Given the description of an element on the screen output the (x, y) to click on. 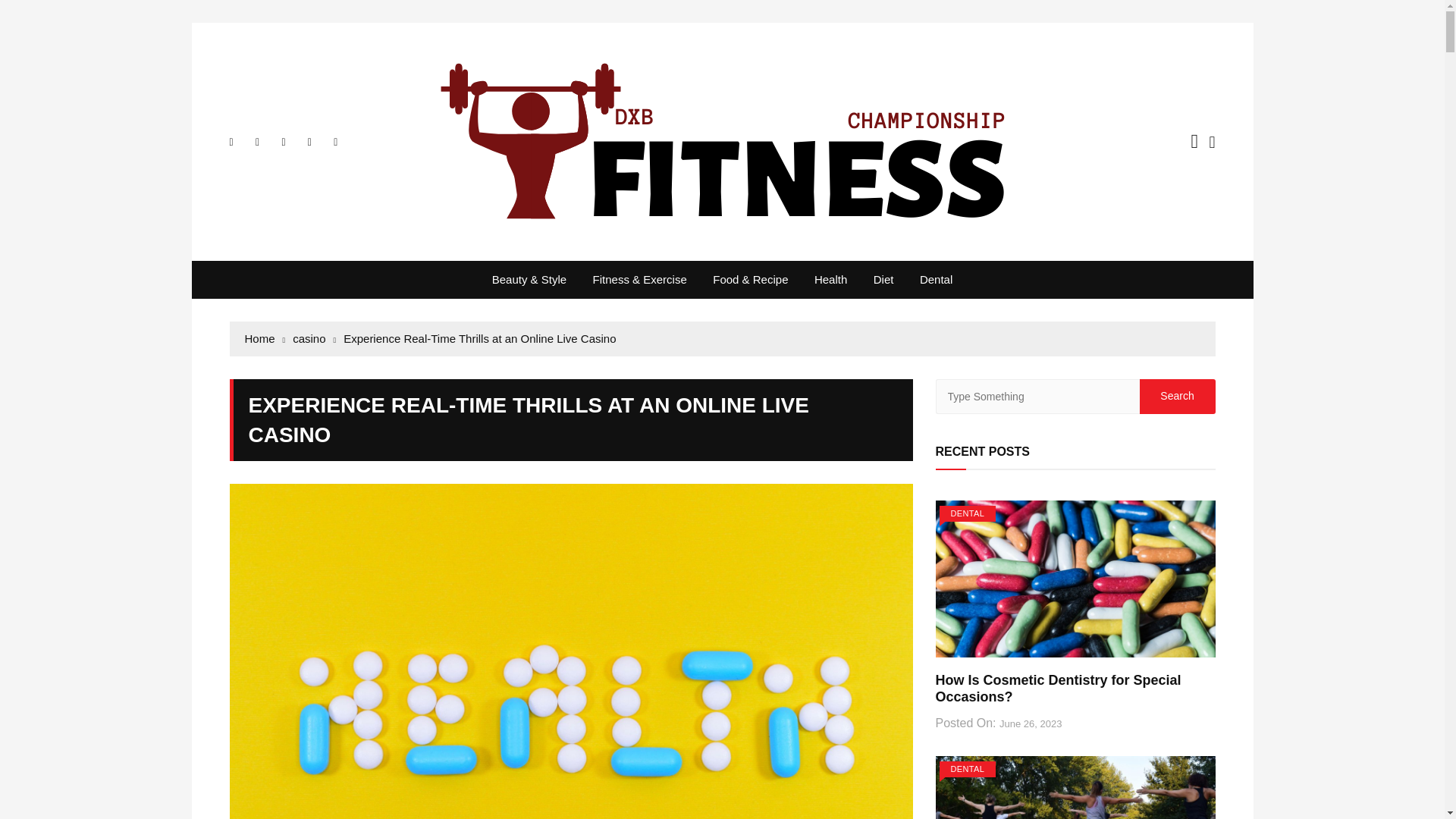
Dental (935, 279)
Health (831, 279)
Search (1176, 396)
Diet (883, 279)
